Given the description of an element on the screen output the (x, y) to click on. 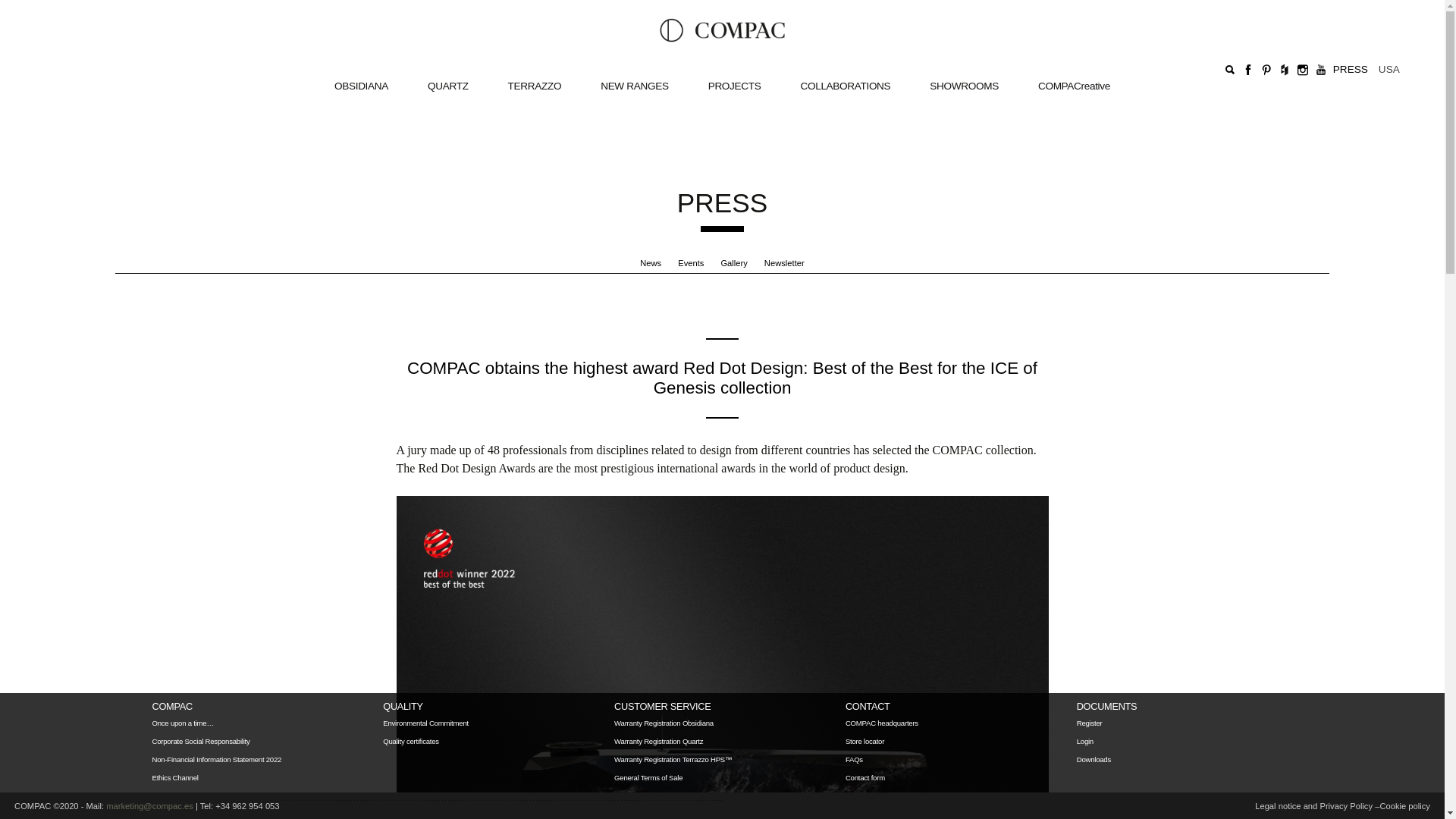
USA (1385, 69)
COMPACreative (1074, 85)
PRESS (1350, 68)
Skip to content (353, 69)
Pinterest (1266, 69)
Facebook (1247, 69)
Skip to content (353, 69)
PROJECTS (734, 85)
NEW RANGES (633, 85)
Youtube (1320, 69)
Houzz (1284, 69)
instagram (1302, 69)
COLLABORATIONS (844, 85)
Press (1350, 68)
OBSIDIANA (361, 85)
